Given the description of an element on the screen output the (x, y) to click on. 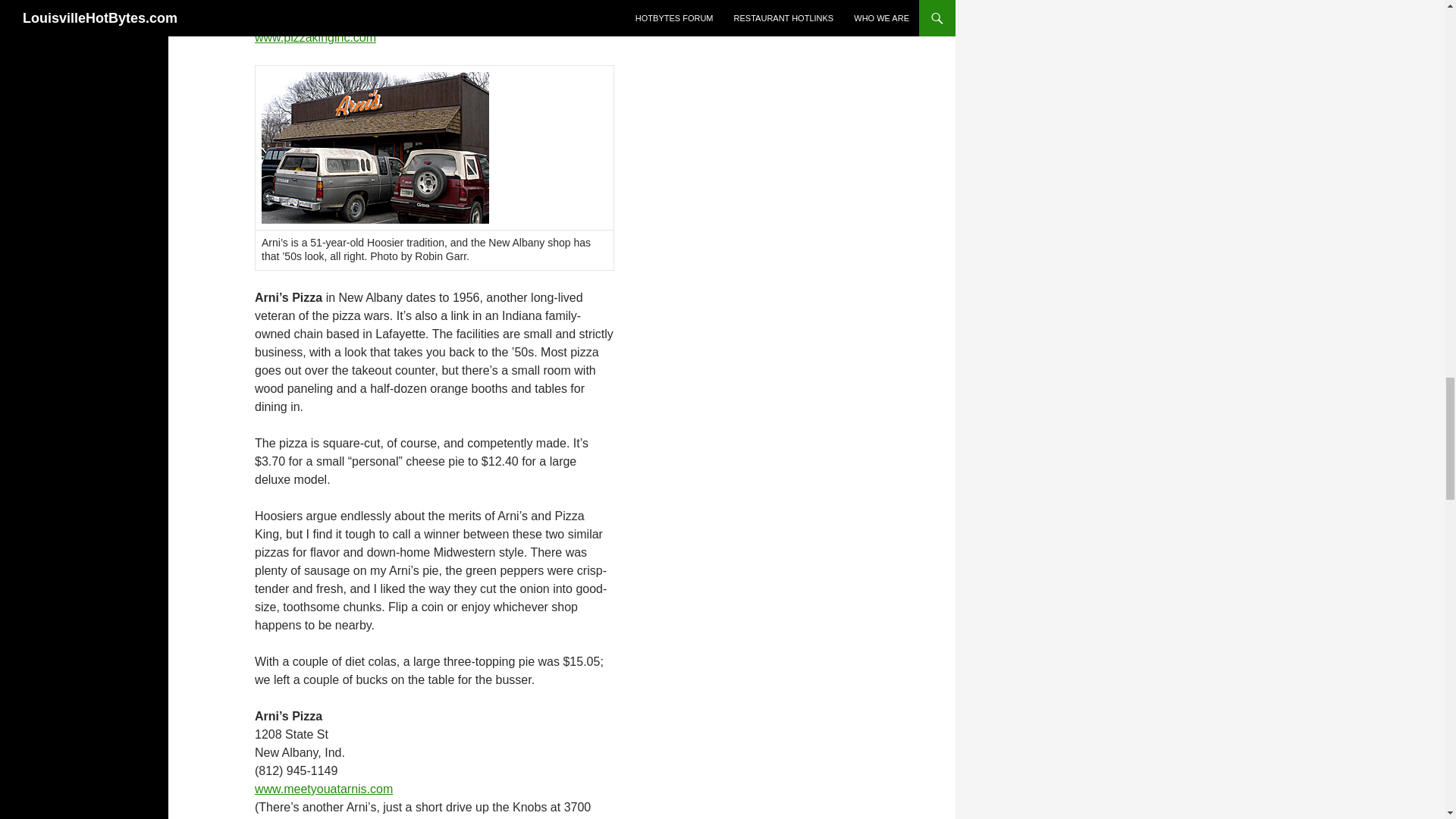
www.meetyouatarnis.com (323, 788)
www.pizzakinginc.com (314, 37)
